Given the description of an element on the screen output the (x, y) to click on. 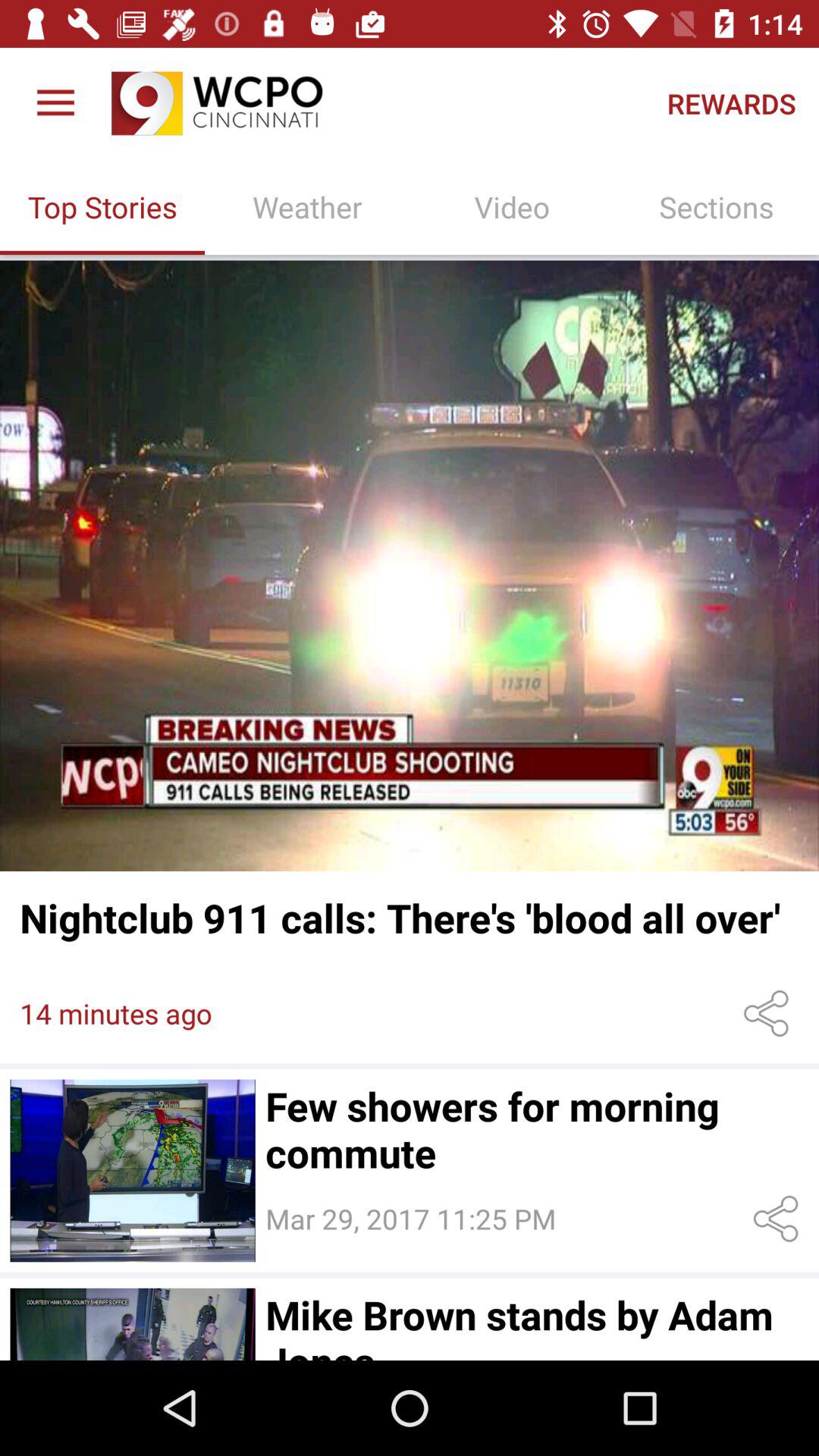
share (769, 1013)
